Given the description of an element on the screen output the (x, y) to click on. 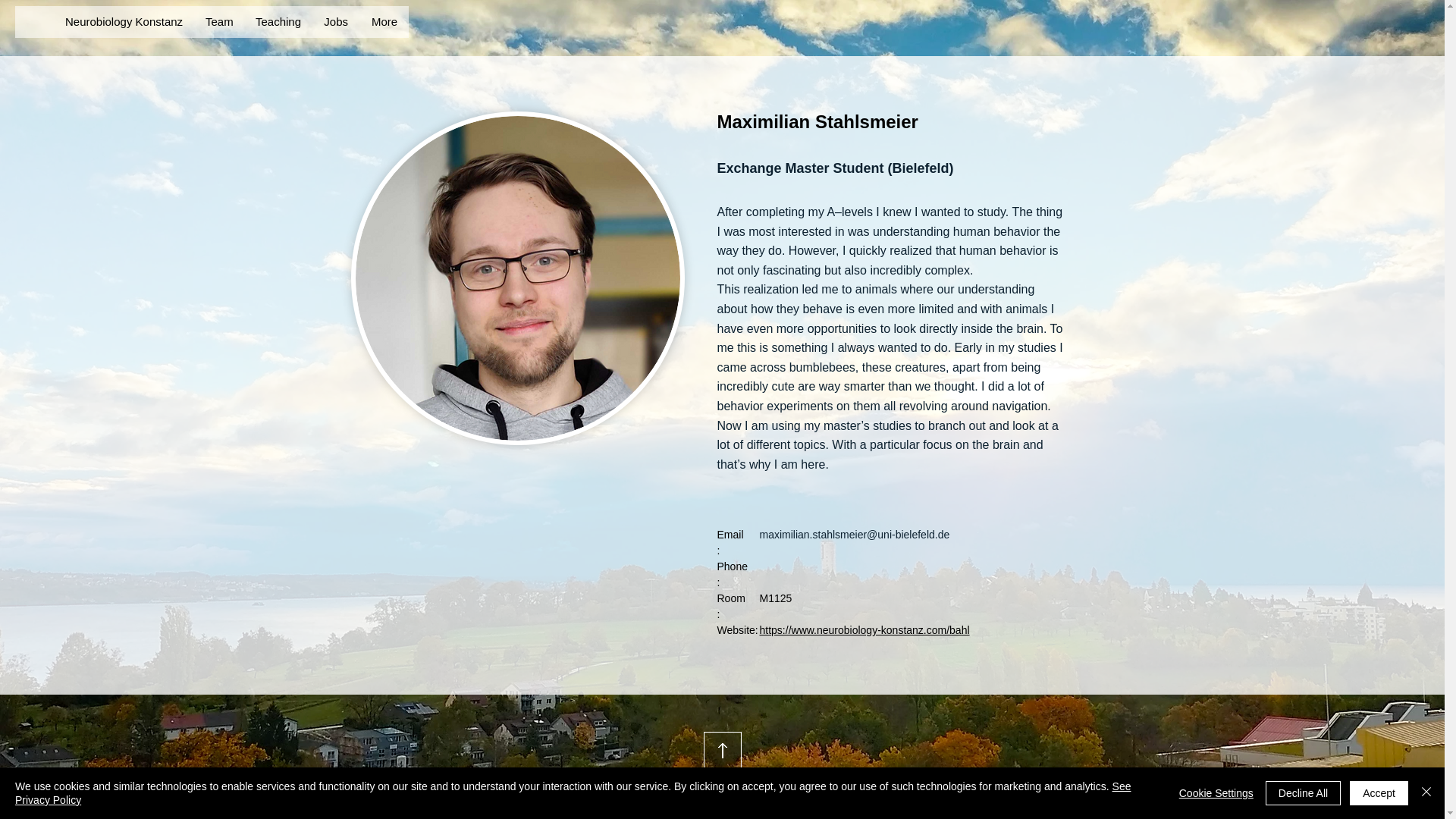
Jobs (335, 21)
MaxB.png (517, 278)
Decline All (1302, 793)
Accept (1378, 793)
See Privacy Policy (572, 792)
Neurobiology Konstanz (122, 21)
Team (218, 21)
Teaching (277, 21)
